Given the description of an element on the screen output the (x, y) to click on. 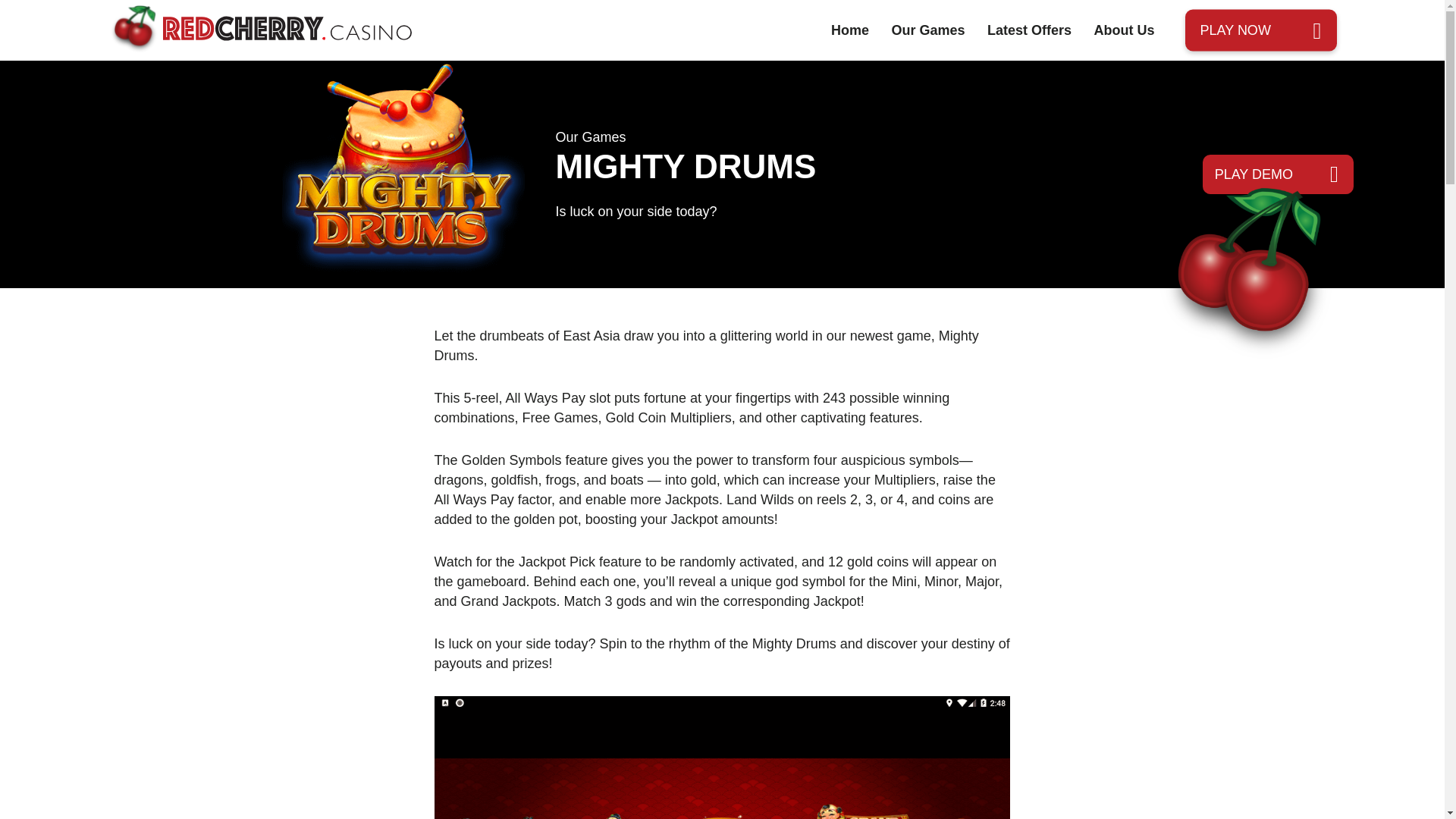
PLAY DEMO (1278, 174)
About Us (1123, 29)
Our Games (928, 29)
About Us (1123, 30)
Home (850, 29)
Latest Offers (1029, 29)
PLAY DEMO (1278, 174)
PLAY NOW (1260, 29)
